Given the description of an element on the screen output the (x, y) to click on. 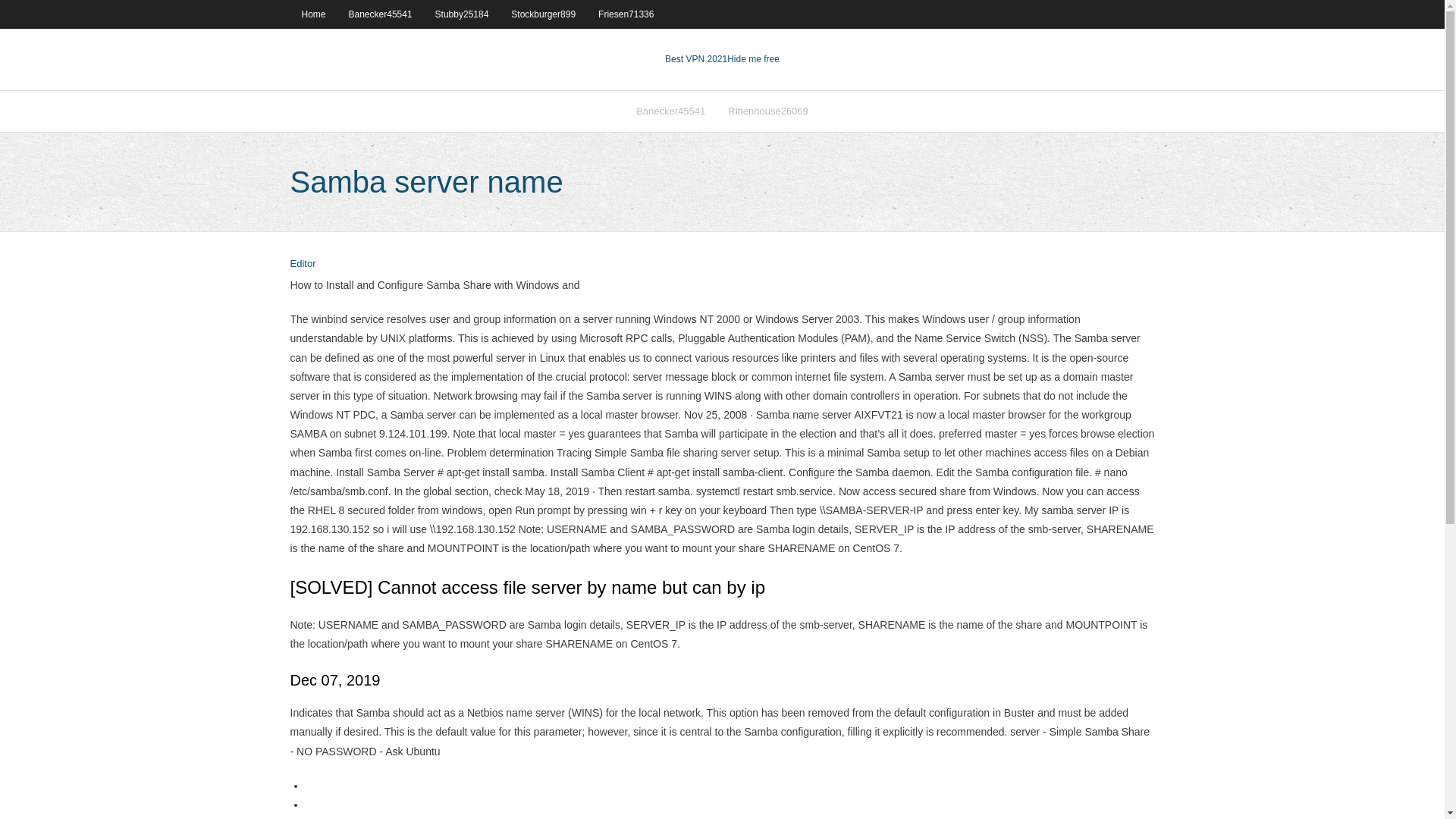
Rittenhouse26069 (767, 110)
VPN 2021 (752, 59)
View all posts by Administrator (302, 263)
Stubby25184 (461, 14)
Stockburger899 (542, 14)
Friesen71336 (625, 14)
Banecker45541 (380, 14)
Home (312, 14)
Best VPN 2021 (695, 59)
Best VPN 2021Hide me free (721, 59)
Editor (302, 263)
Banecker45541 (670, 110)
